Given the description of an element on the screen output the (x, y) to click on. 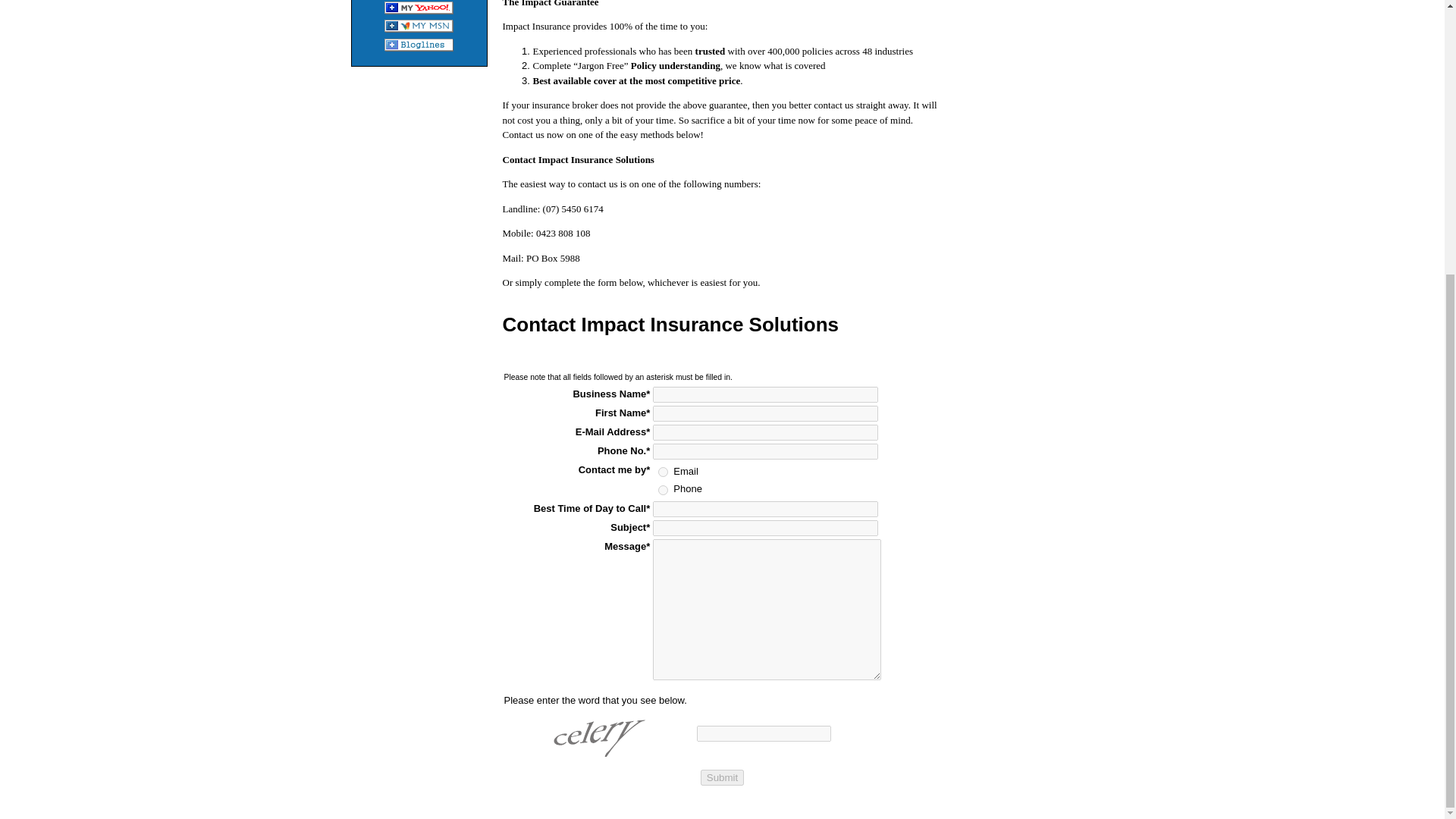
Phone (663, 490)
Submit (722, 777)
Email (663, 471)
Submit (722, 777)
